Given the description of an element on the screen output the (x, y) to click on. 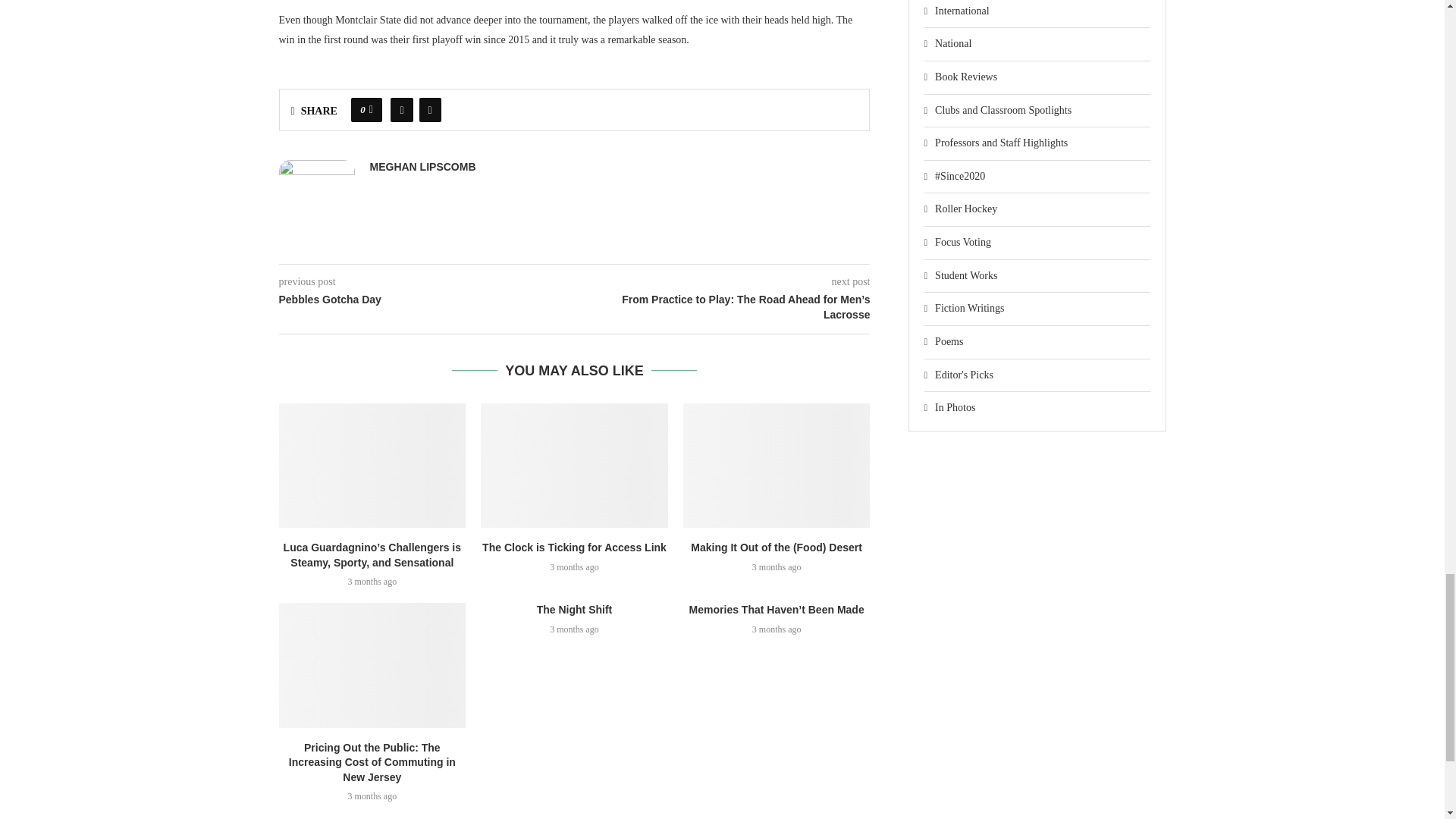
Author Meghan Lipscomb (422, 166)
The Clock is Ticking for Access Link (574, 465)
